Given the description of an element on the screen output the (x, y) to click on. 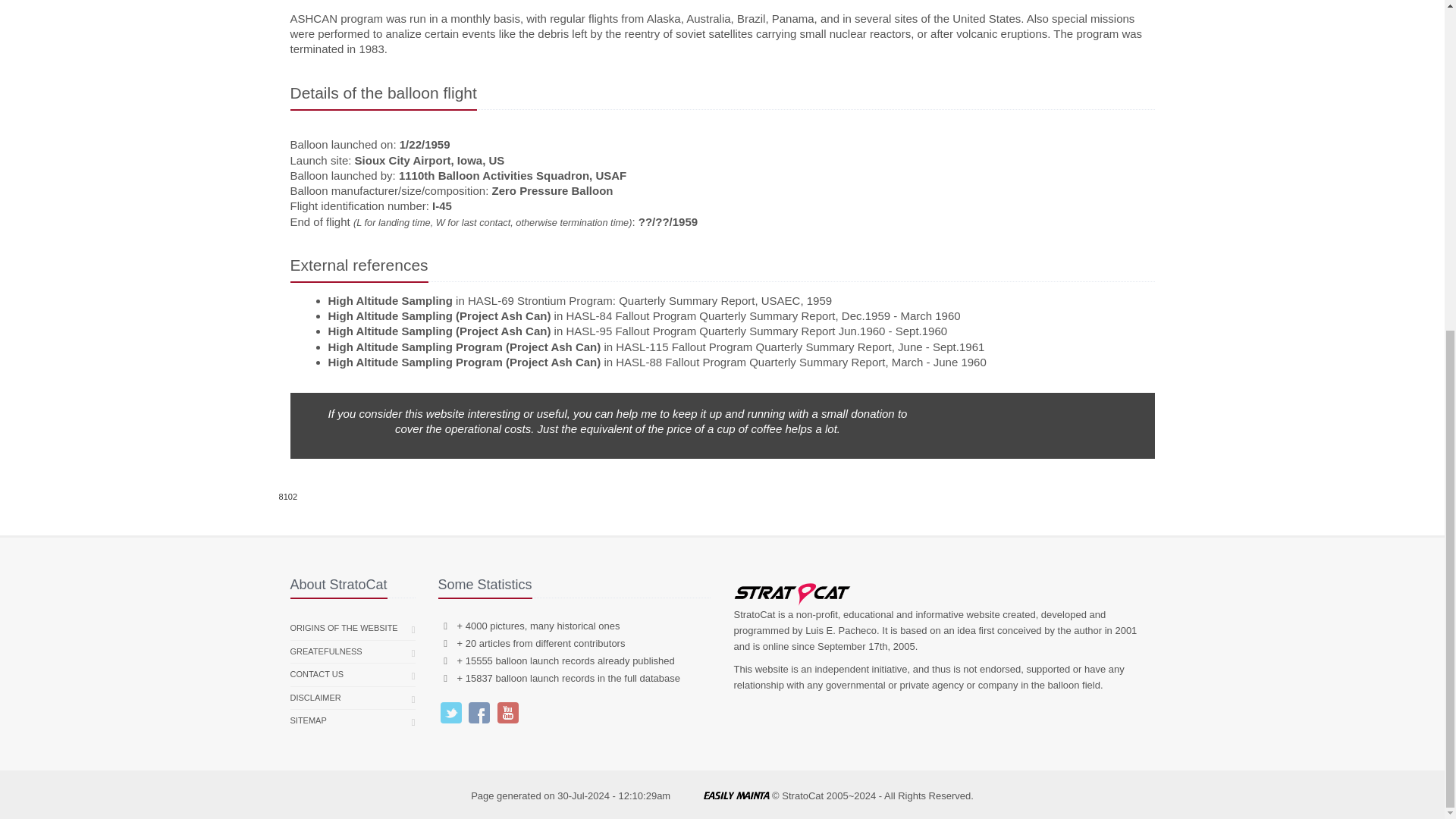
SITEMAP (307, 721)
High Altitude Sampling (389, 300)
CONTACT US (316, 674)
DISCLAIMER (314, 698)
GREATEFULNESS (325, 651)
ORIGINS OF THE WEBSITE (343, 628)
